Given the description of an element on the screen output the (x, y) to click on. 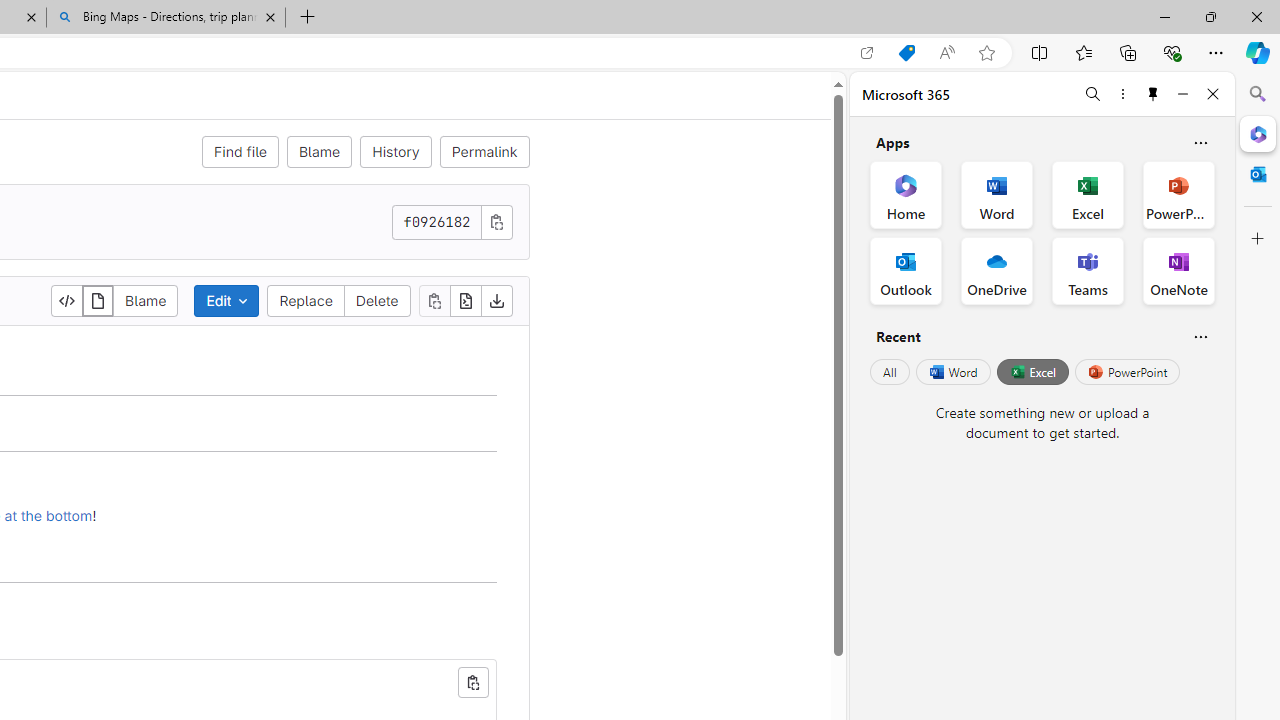
Edit (226, 300)
Download (496, 300)
Word (952, 372)
All (890, 372)
Blame (319, 151)
Unpin side pane (1153, 93)
PowerPoint Office App (1178, 194)
